Given the description of an element on the screen output the (x, y) to click on. 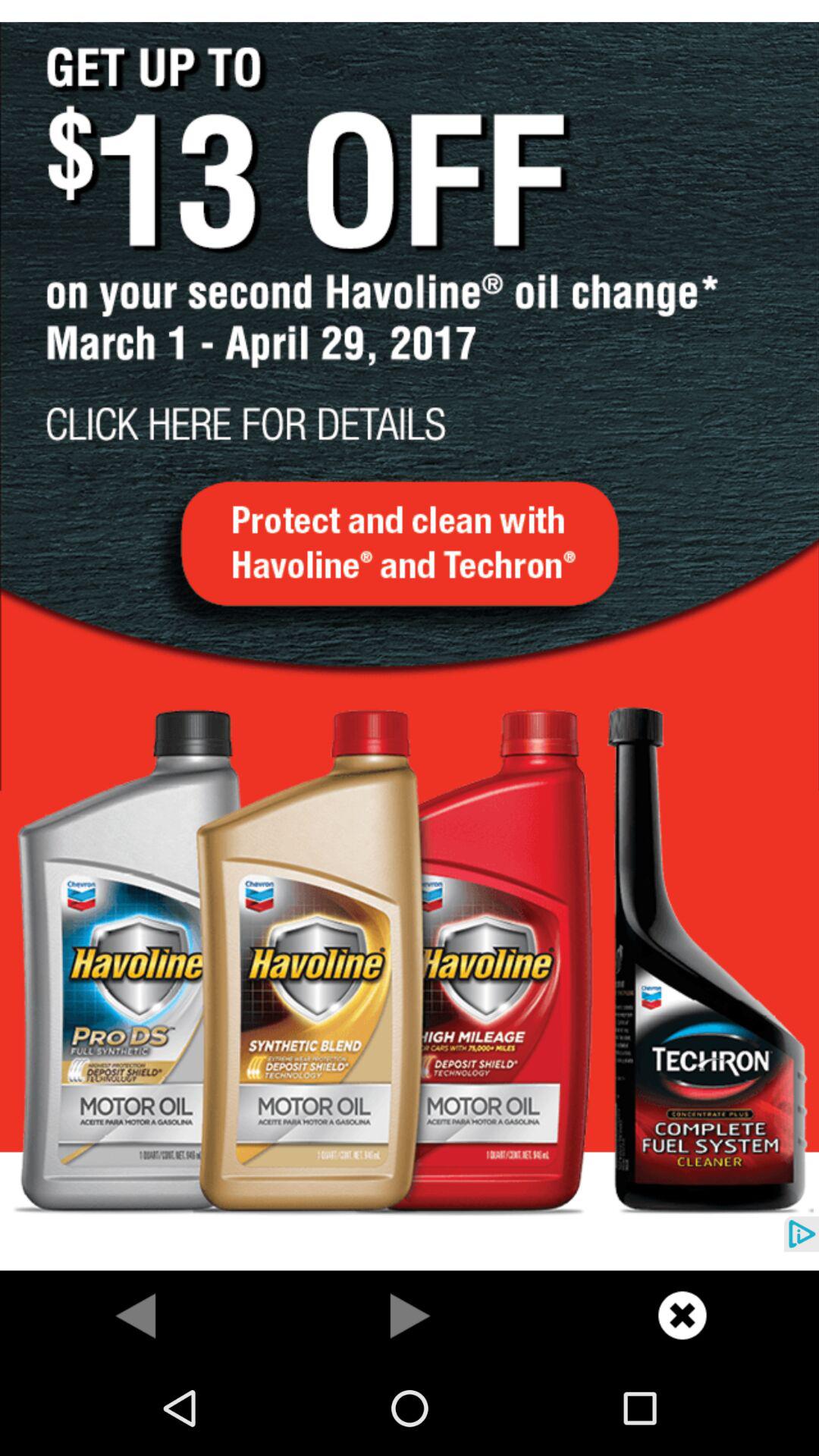
go to previous (409, 1315)
